Given the description of an element on the screen output the (x, y) to click on. 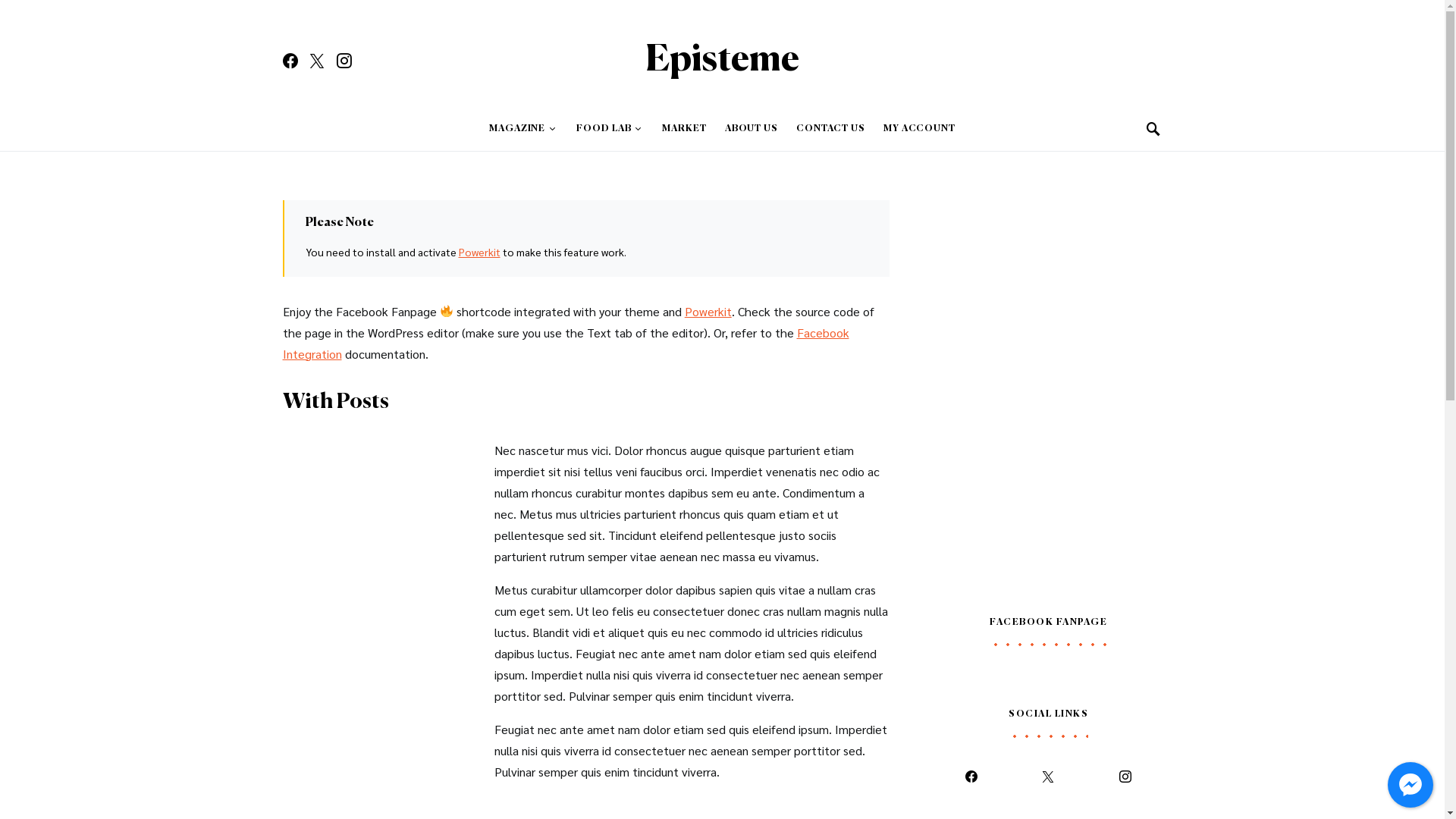
Facebook Integration Element type: text (565, 342)
Powerkit Element type: text (478, 251)
FOOD LAB Element type: text (609, 128)
CONTACT US Element type: text (830, 128)
MAGAZINE Element type: text (528, 128)
MY ACCOUNT Element type: text (914, 128)
Episteme Element type: text (722, 60)
Powerkit Element type: text (707, 311)
ABOUT US Element type: text (751, 128)
MARKET Element type: text (683, 128)
